Given the description of an element on the screen output the (x, y) to click on. 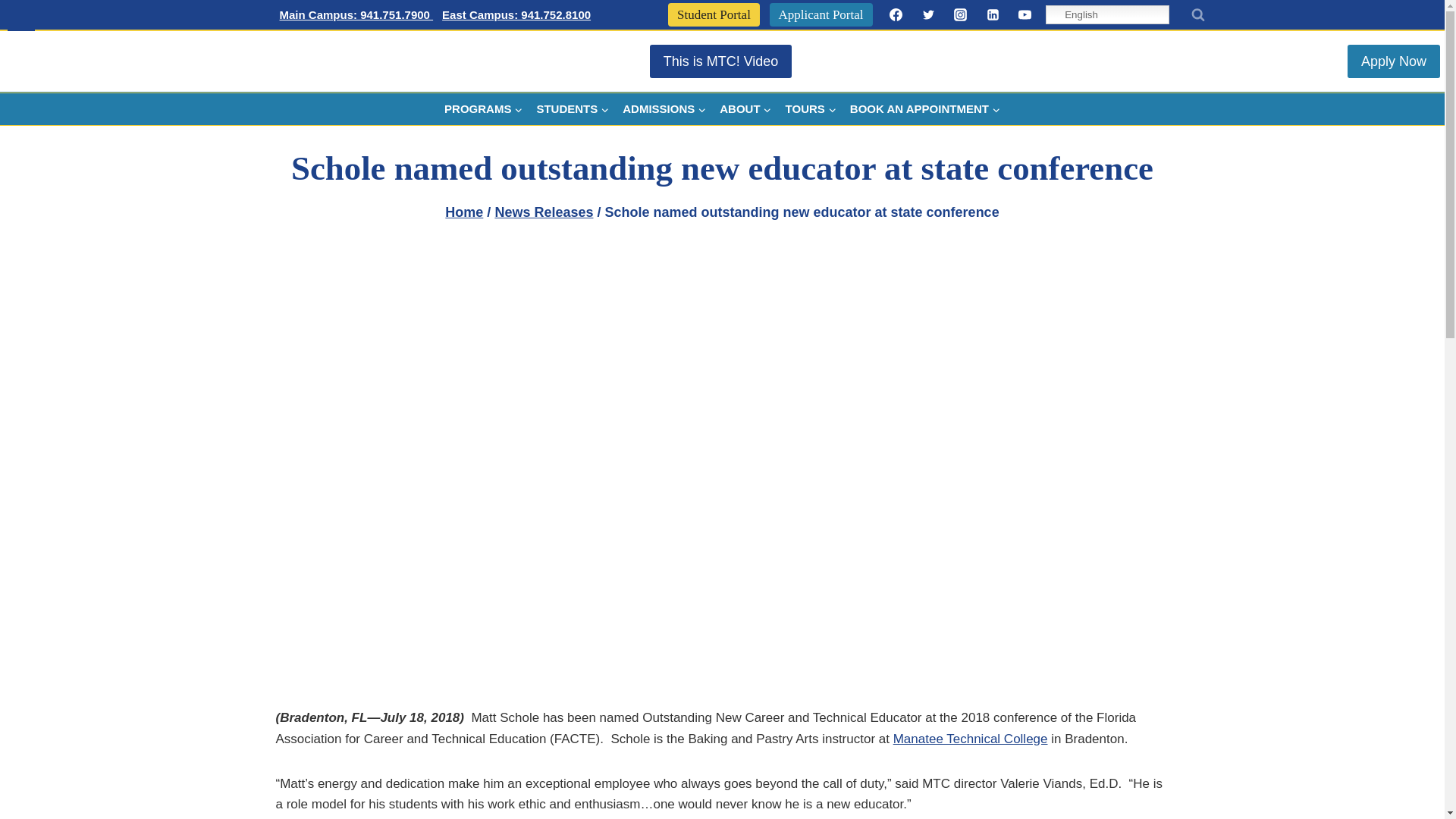
Applicant Portal (821, 14)
Main Campus: 941.751.7900  (356, 14)
English (1107, 14)
East Campus: 941.752.8100 (516, 14)
Student Portal (714, 14)
